Given the description of an element on the screen output the (x, y) to click on. 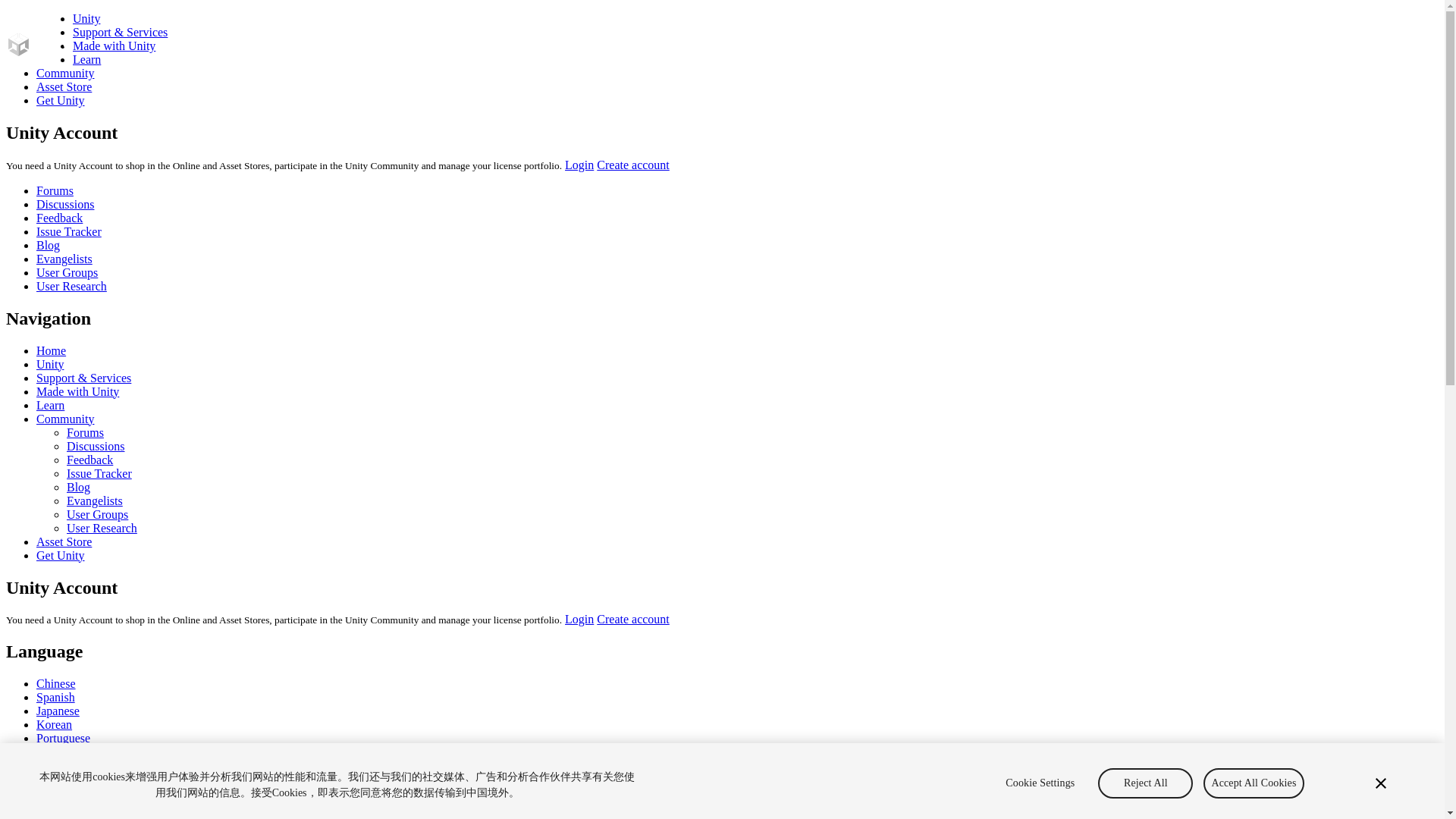
translation missing: en.layouts.application.login (579, 618)
Korean (53, 724)
User Research (71, 286)
Login (579, 164)
Issue Tracker (99, 472)
Japanese (58, 710)
Feedback (59, 217)
Feedback (89, 459)
Forums (84, 431)
Learn (86, 59)
Community (65, 418)
Home (50, 350)
Evangelists (64, 258)
Unity (50, 364)
User Groups (66, 272)
